Given the description of an element on the screen output the (x, y) to click on. 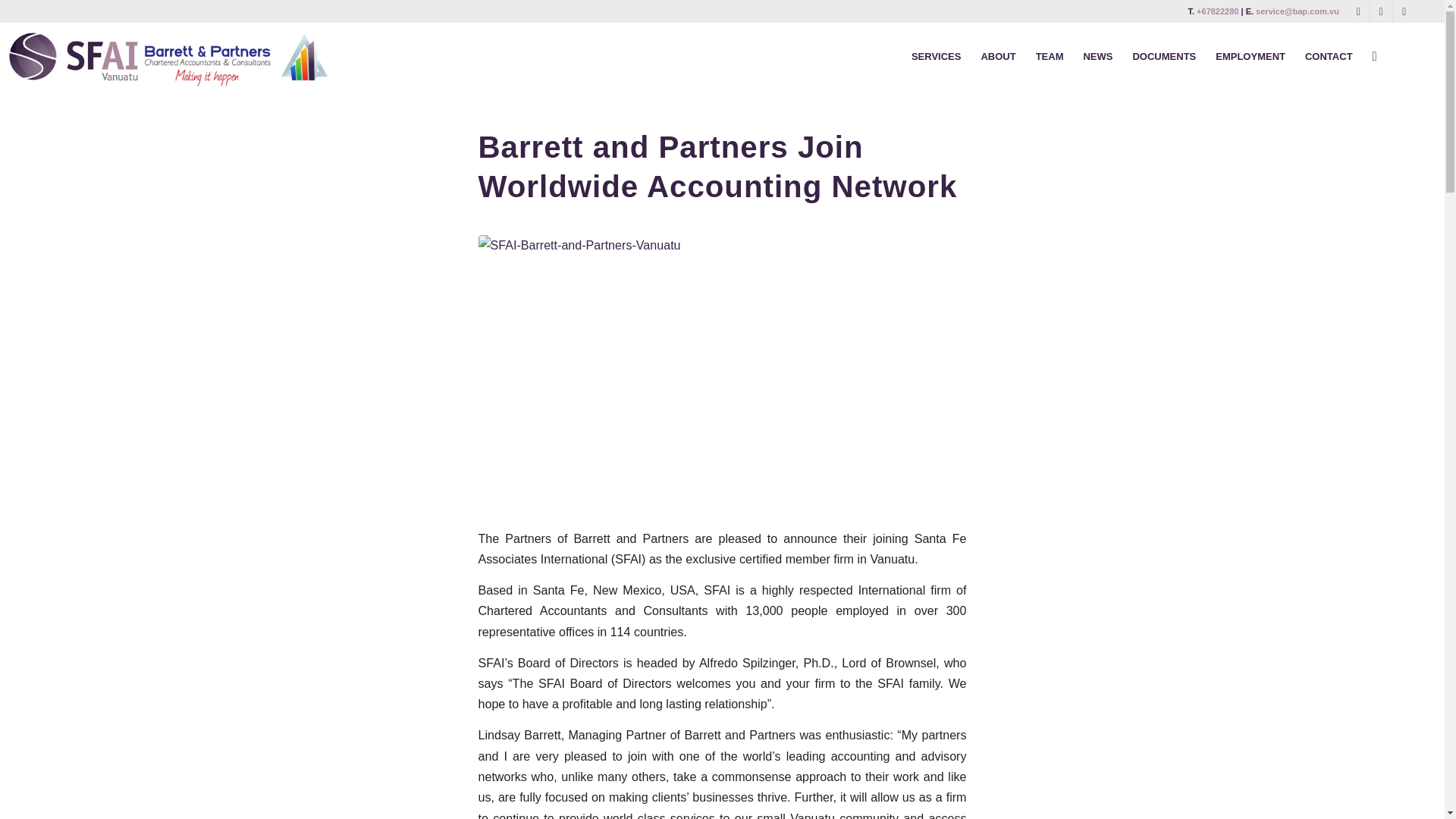
SERVICES (936, 56)
Facebook (1359, 11)
LinkedIn (1380, 11)
Barrett and Partners Join Worldwide Accounting Network (716, 166)
DOCUMENTS (1163, 56)
WhatsApp (1404, 11)
CONTACT (1328, 56)
EMPLOYMENT (1250, 56)
